Given the description of an element on the screen output the (x, y) to click on. 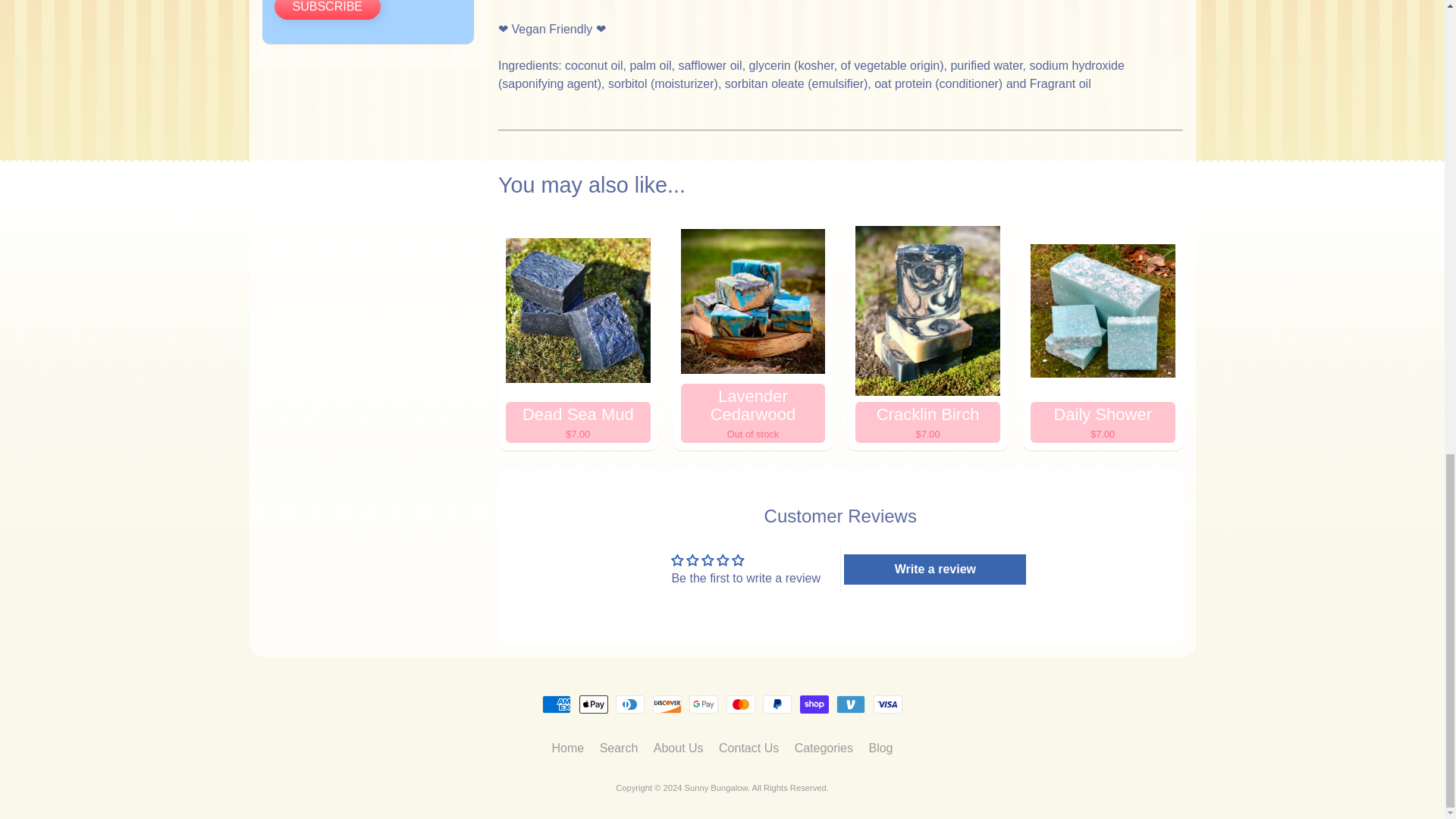
Venmo (849, 704)
Discover (666, 704)
Diners Club (630, 704)
PayPal (777, 704)
Mastercard (740, 704)
Apple Pay (593, 704)
American Express (555, 704)
Shop Pay (813, 704)
Visa (887, 704)
Google Pay (702, 704)
